Given the description of an element on the screen output the (x, y) to click on. 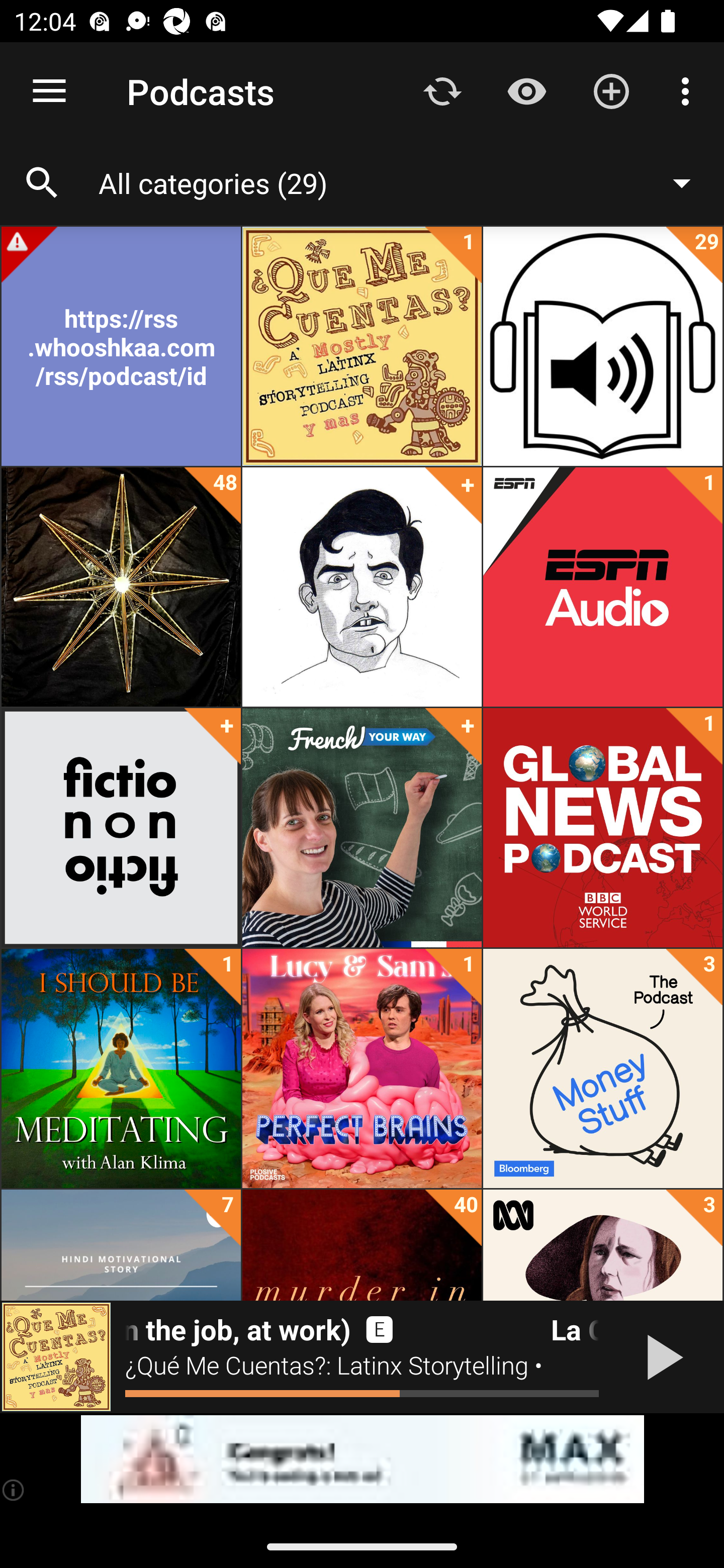
Open navigation sidebar (49, 91)
Update (442, 90)
Show / Hide played content (526, 90)
Add new Podcast (611, 90)
More options (688, 90)
Search (42, 183)
All categories (29) (404, 182)
https://rss.whooshkaa.com/rss/podcast/id/5884 (121, 346)
¿Qué Me Cuentas?: Latinx Storytelling 1 (361, 346)
Audiobooks 29 (602, 346)
Audiobooks 48 (121, 587)
Cooking Issues with Dave Arnold + (361, 587)
ESPN Audio 1 (602, 587)
fiction/non/fiction + (121, 827)
Global News Podcast 1 (602, 827)
Lucy & Sam's Perfect Brains 1 (361, 1068)
Money Stuff: The Podcast 3 (602, 1068)
Play / Pause (660, 1356)
app-monetization (362, 1459)
(i) (14, 1489)
